Given the description of an element on the screen output the (x, y) to click on. 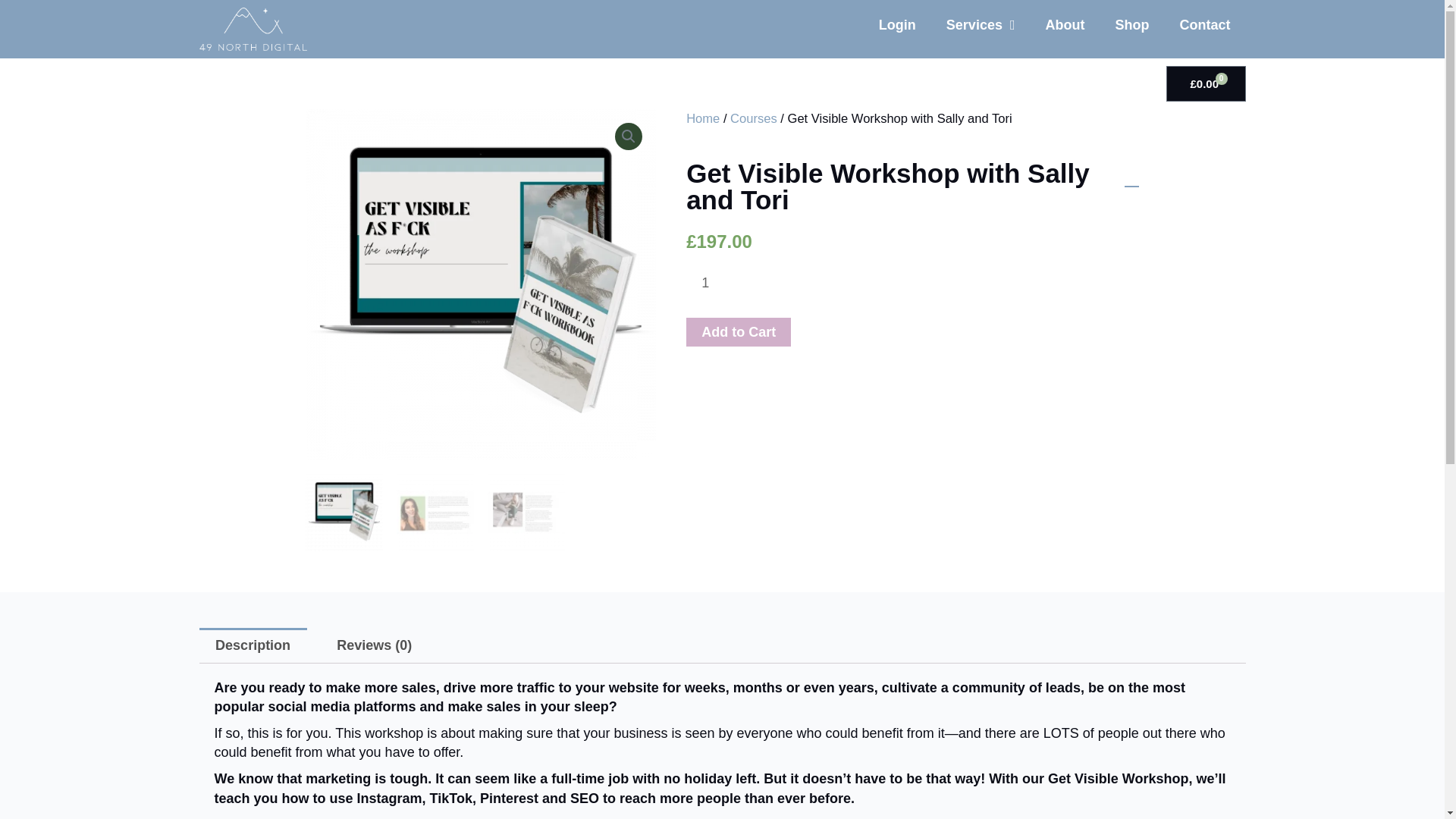
Description (251, 645)
Add to Cart (737, 331)
About (1064, 24)
Sally and tori get visible (831, 284)
Contact (1203, 24)
Get Visible Workshop Cover (480, 284)
Home (702, 118)
Services (980, 24)
Login (897, 24)
Courses (753, 118)
Shop (1131, 24)
1 (710, 283)
